Given the description of an element on the screen output the (x, y) to click on. 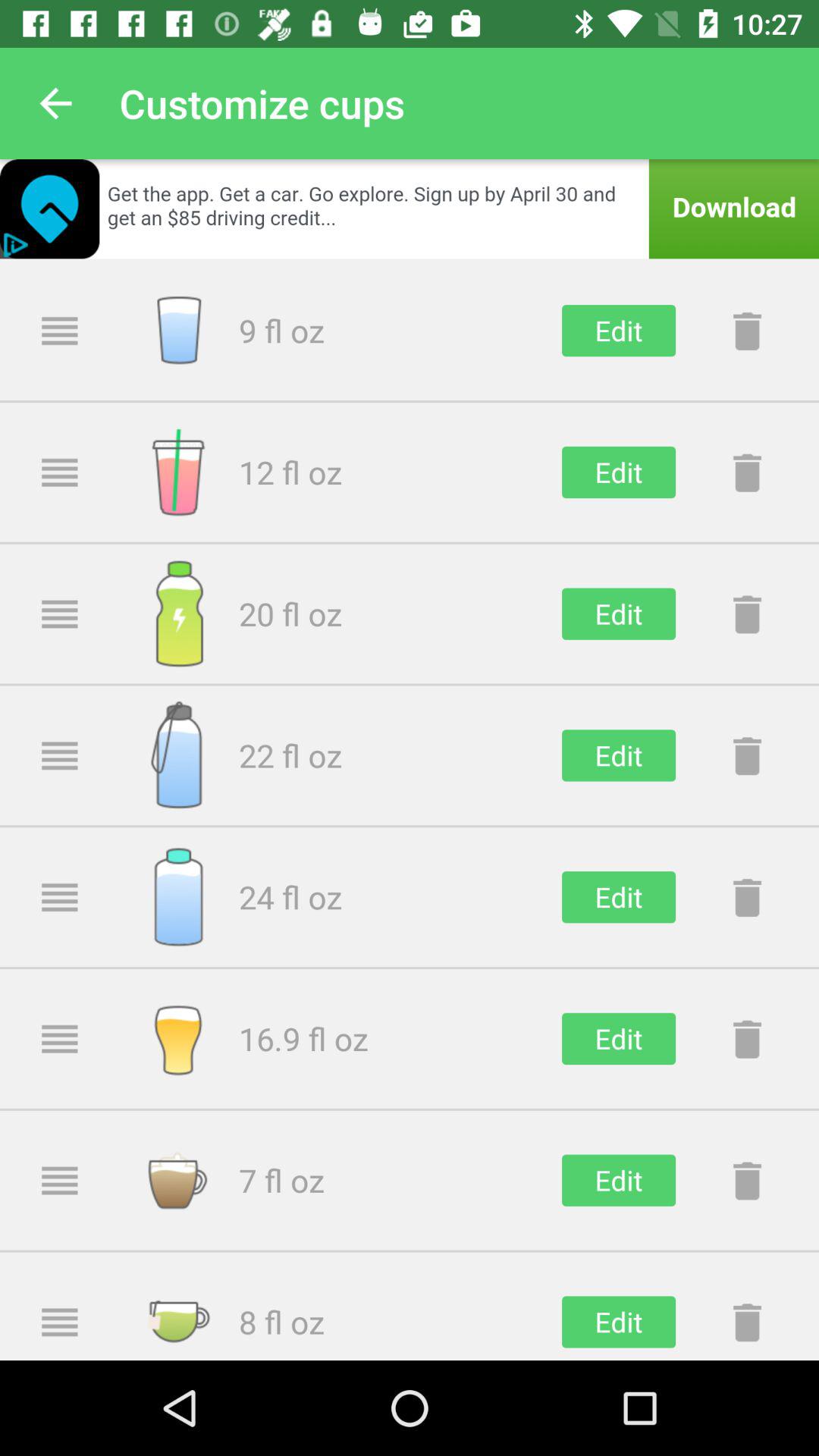
delete this item (747, 613)
